Given the description of an element on the screen output the (x, y) to click on. 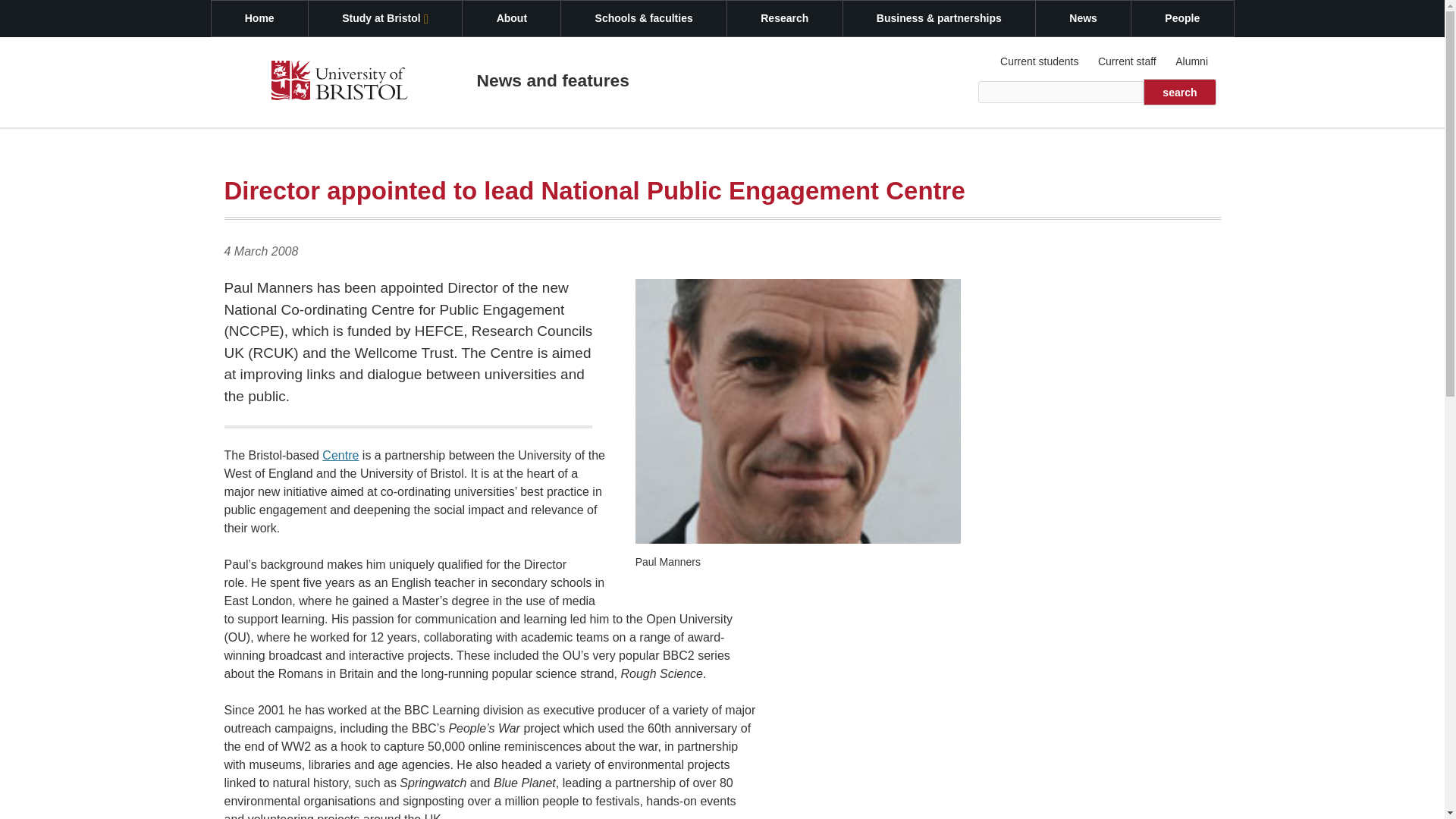
search (1178, 91)
Current staff (1126, 61)
News and features (552, 80)
Homepage (338, 82)
Current students (1039, 61)
News (1083, 18)
Study at Bristol (384, 18)
Research (784, 18)
search (1178, 91)
About (511, 18)
Alumni (1191, 61)
search (1178, 91)
Home (259, 18)
enter search keywords (1061, 92)
Centre (339, 454)
